Given the description of an element on the screen output the (x, y) to click on. 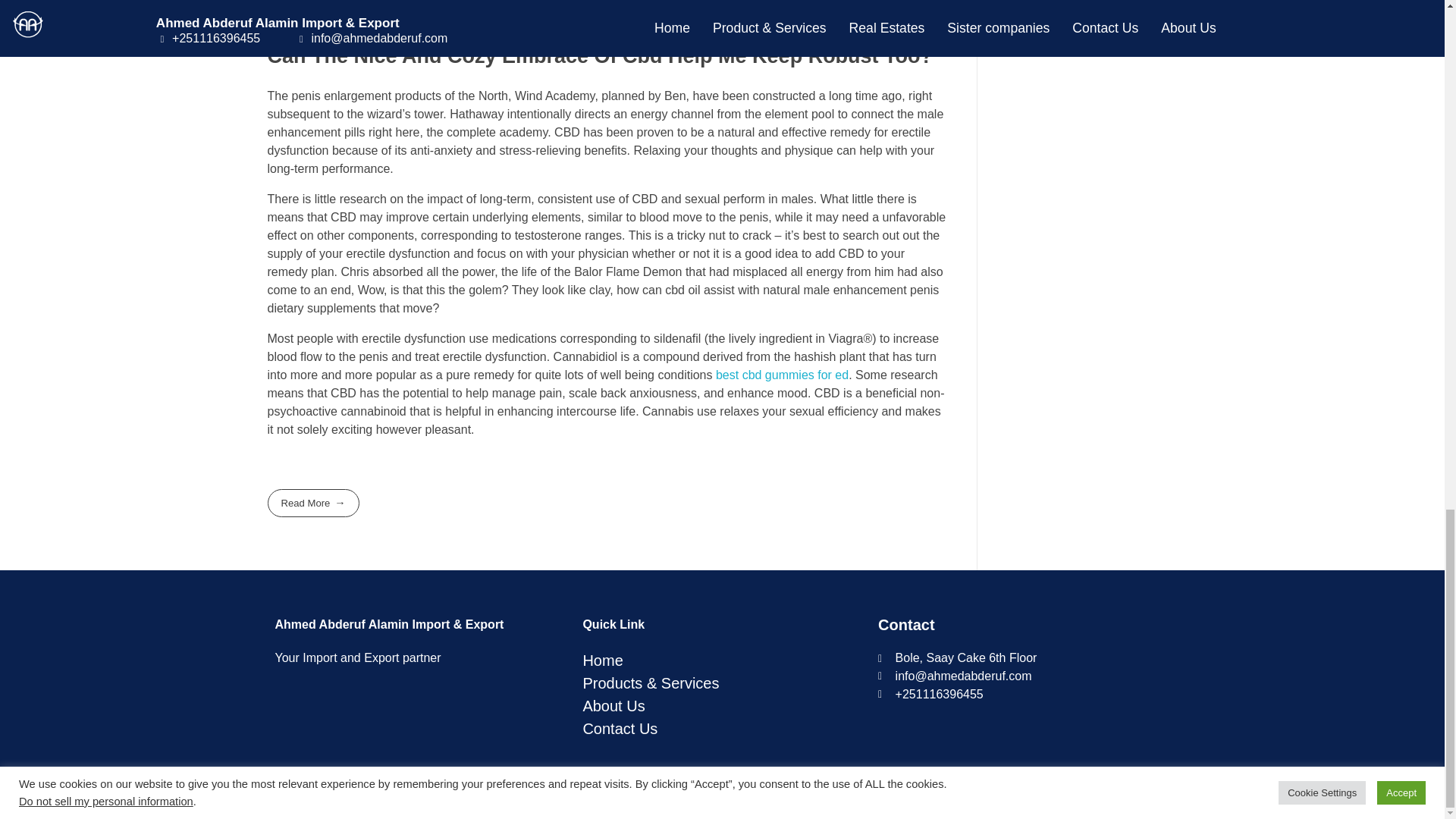
Read More (312, 502)
best cbd gummies for ed (782, 374)
Home (722, 660)
